Given the description of an element on the screen output the (x, y) to click on. 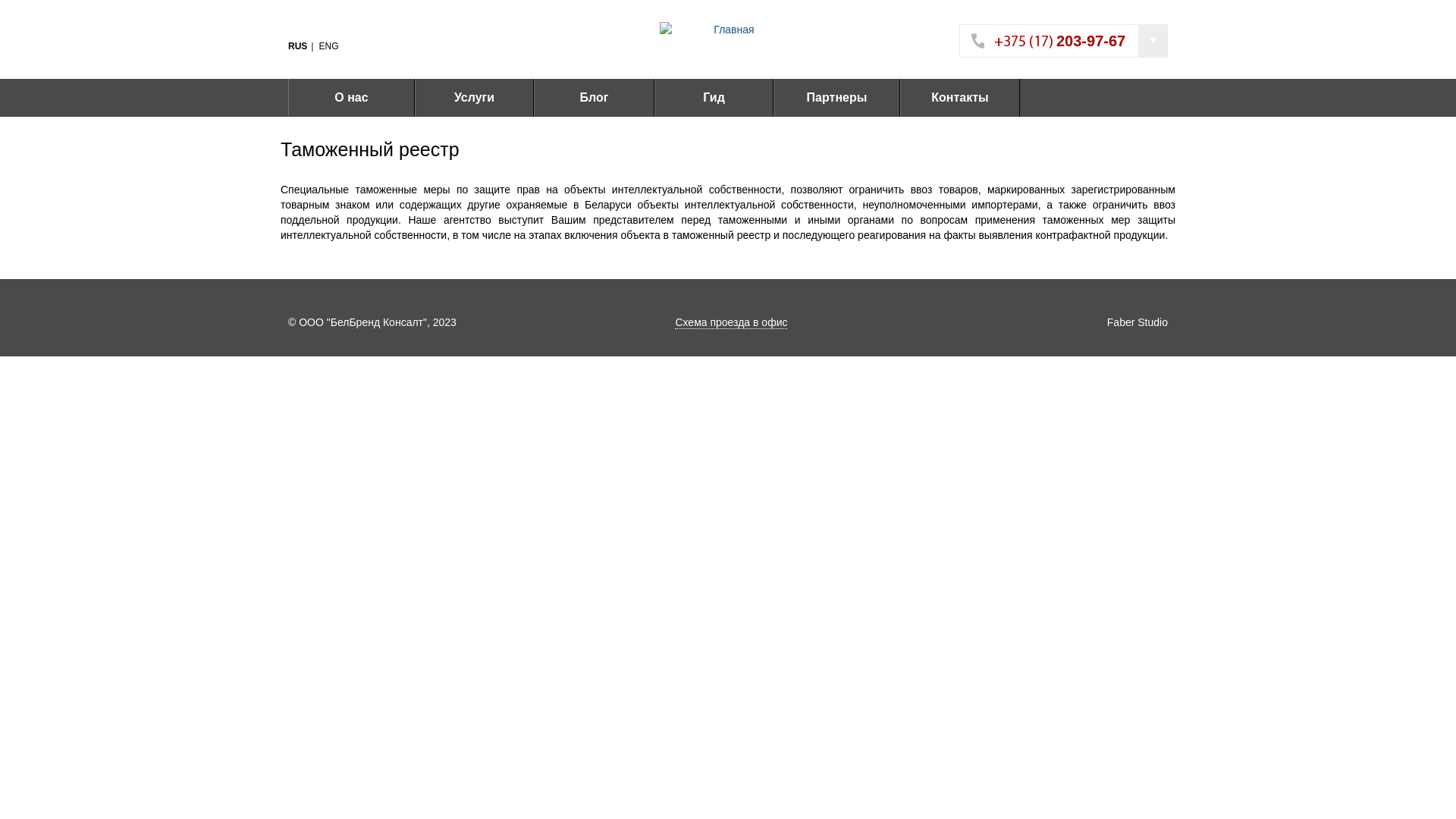
ENG Element type: text (332, 45)
RUS Element type: text (302, 45)
Faber Studio Element type: text (1137, 322)
